Given the description of an element on the screen output the (x, y) to click on. 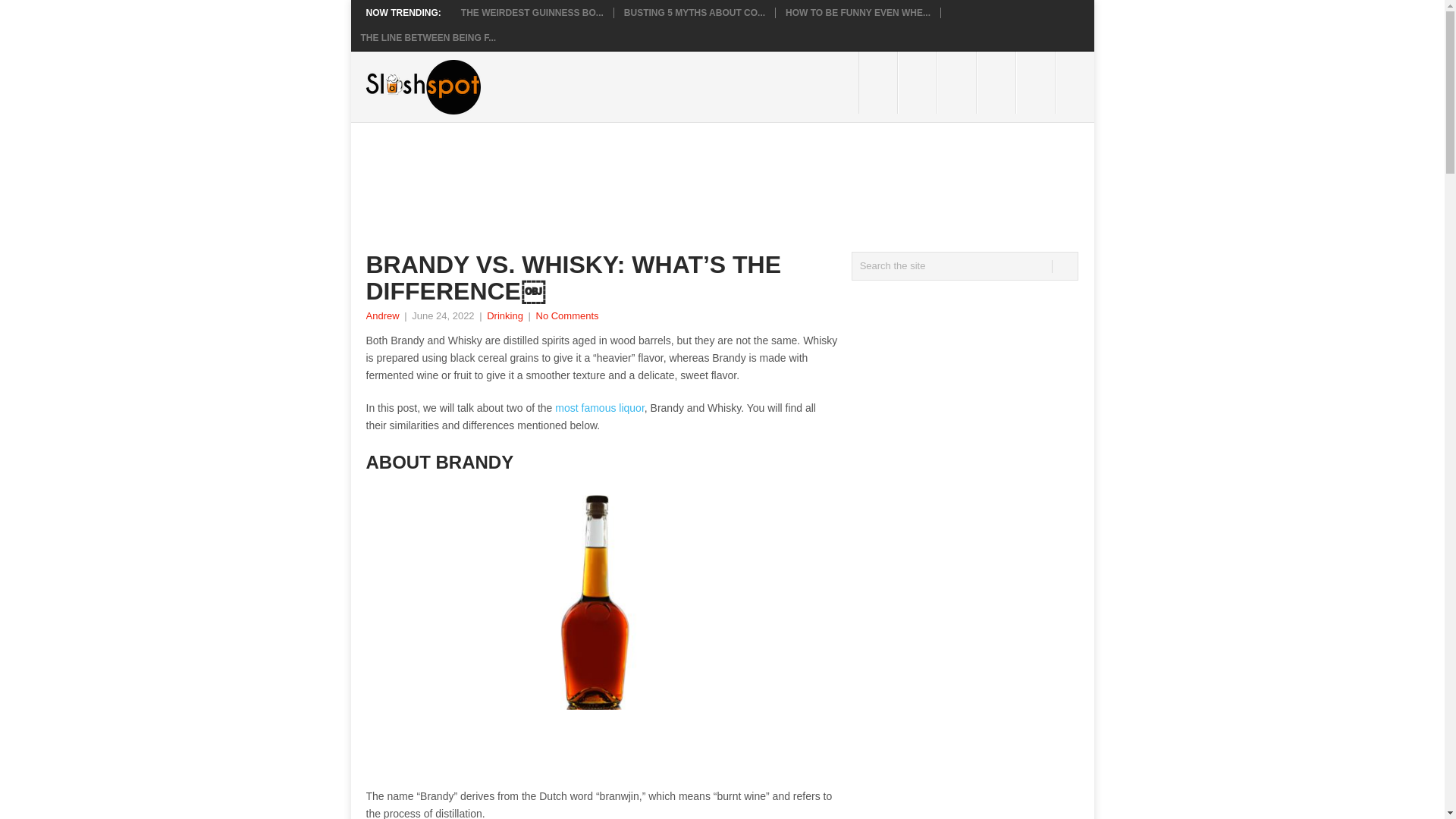
Busting 5 Myths About COVID-19 (694, 12)
Posts by Andrew (381, 315)
THE LINE BETWEEN BEING F... (428, 37)
most famous liquor (599, 408)
Search the site (964, 265)
Search (1063, 266)
The Line Between Being Funny And Arrogant (428, 37)
BUSTING 5 MYTHS ABOUT CO... (694, 12)
THE WEIRDEST GUINNESS BO... (532, 12)
HOW TO BE FUNNY EVEN WHE... (858, 12)
